Given the description of an element on the screen output the (x, y) to click on. 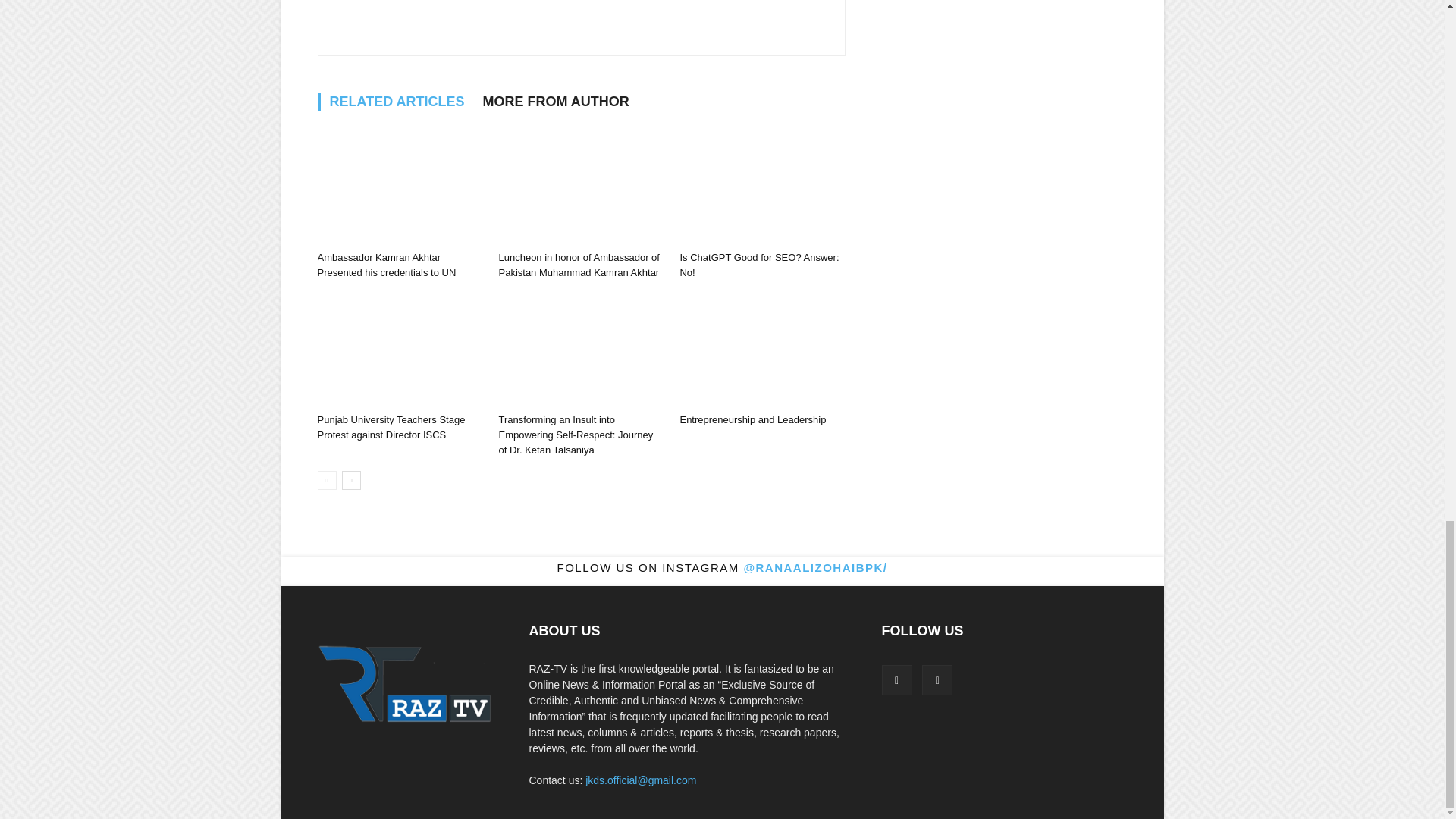
Ambassador Kamran Akhtar Presented his credentials to UN (399, 187)
Is ChatGPT Good for SEO? Answer: No! (761, 187)
Ambassador Kamran Akhtar Presented his credentials to UN (386, 264)
